Given the description of an element on the screen output the (x, y) to click on. 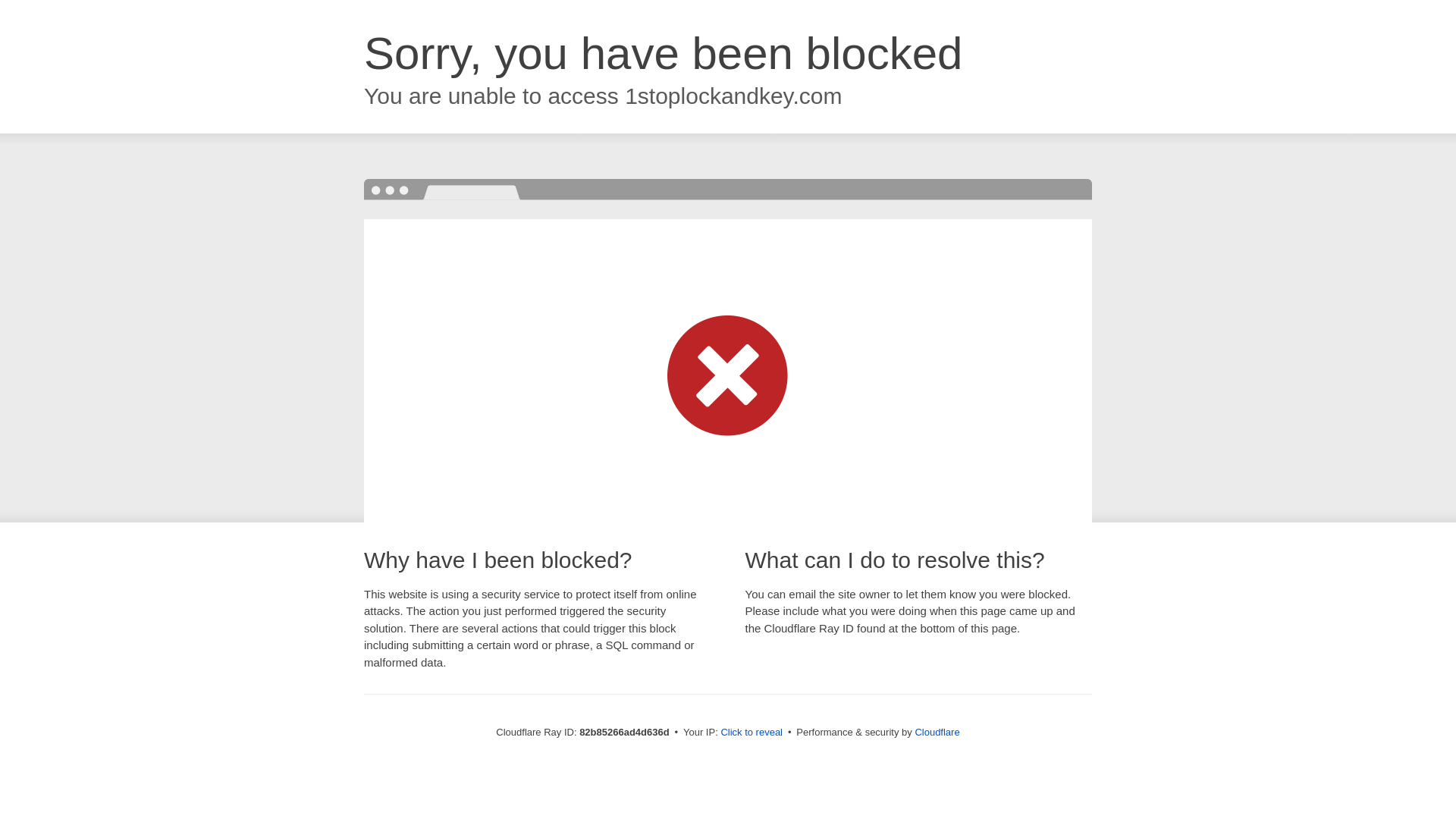
Click to reveal Element type: text (751, 732)
Cloudflare Element type: text (936, 731)
